Given the description of an element on the screen output the (x, y) to click on. 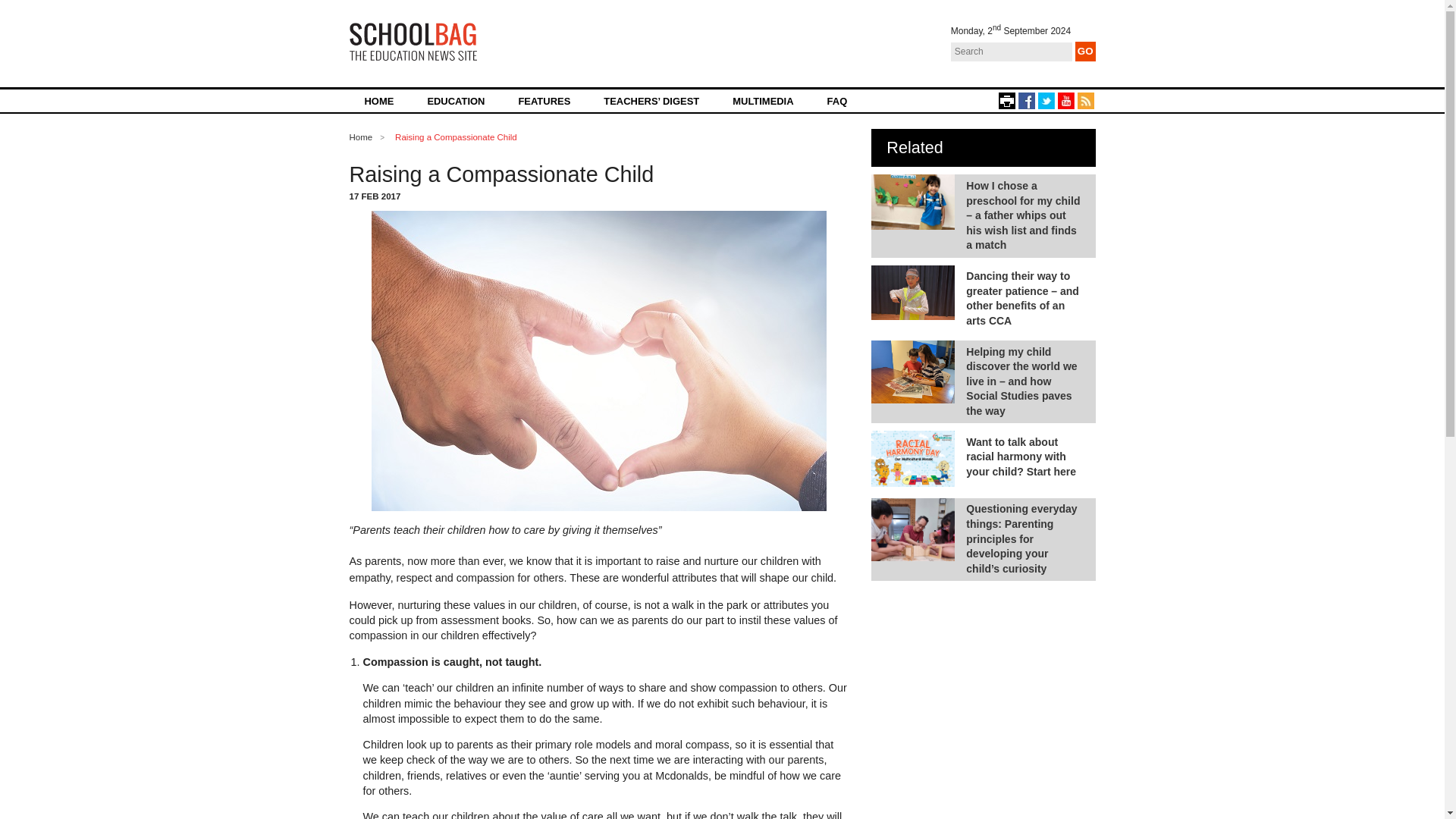
Print (1005, 100)
Raising a Compassionate Child (455, 136)
Home (360, 136)
HOME (379, 100)
FAQ (837, 100)
Youtube (1065, 100)
EDUCATION (455, 100)
GO (1085, 51)
RSS (1085, 100)
FEATURES (543, 100)
